Given the description of an element on the screen output the (x, y) to click on. 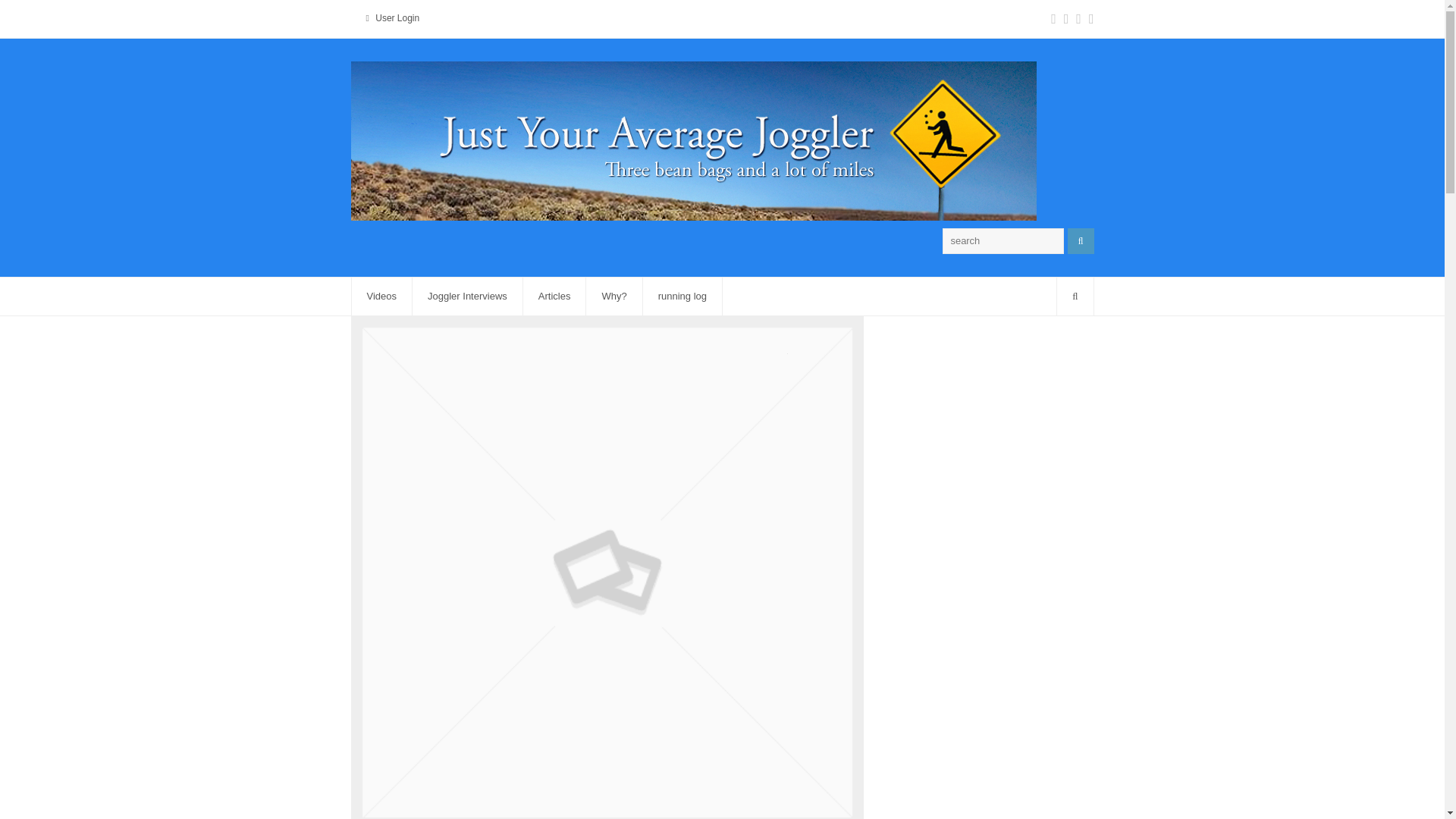
Articles (554, 296)
Videos (382, 296)
running log (682, 296)
search (1002, 240)
Why? (614, 296)
search (1002, 240)
Joggler Interviews (467, 296)
User Login (397, 18)
